Given the description of an element on the screen output the (x, y) to click on. 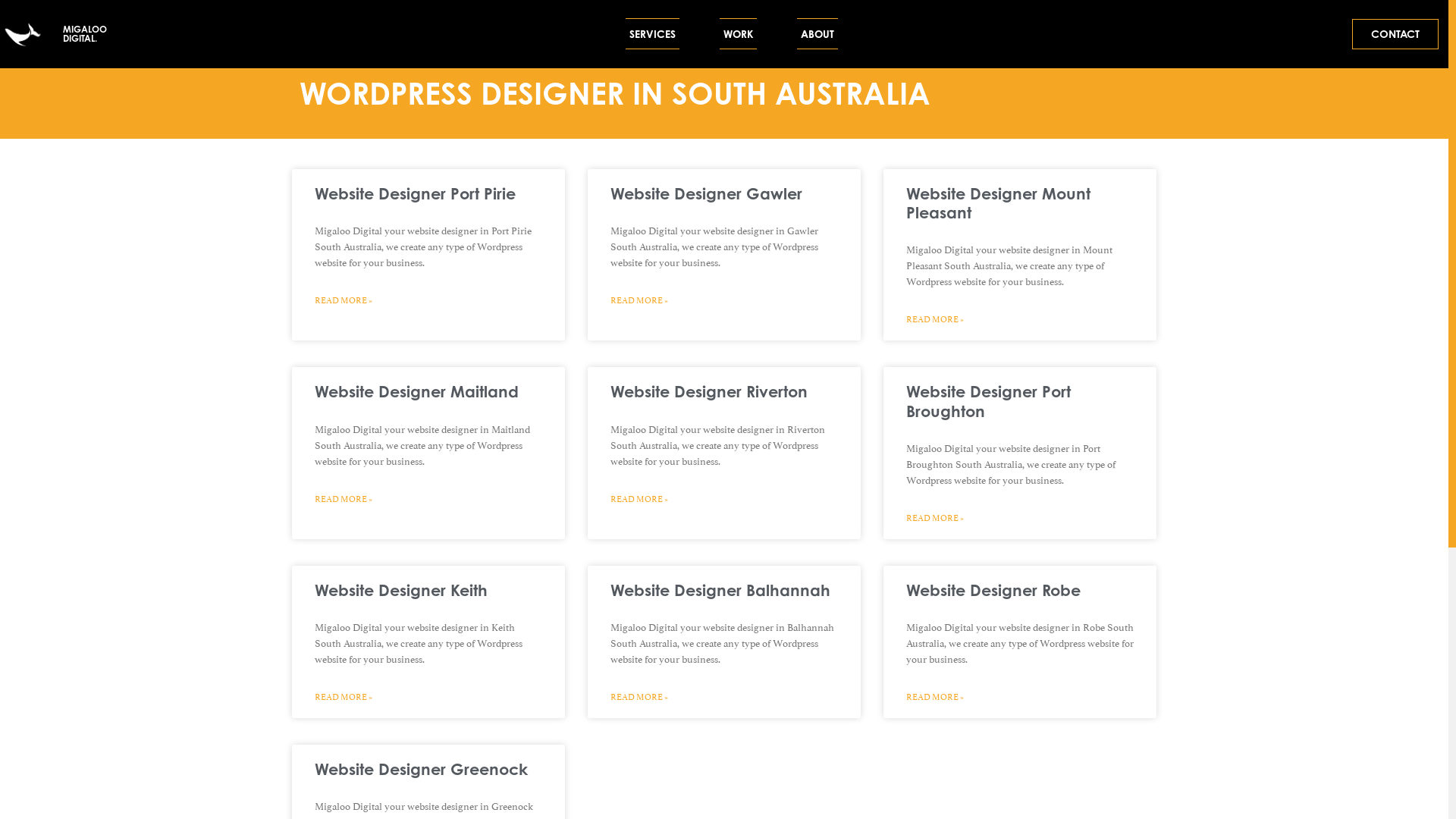
Website Designer Greenock Element type: text (420, 768)
MIGALOO
DIGITAL. Element type: text (84, 33)
Website Designer Balhannah Element type: text (720, 589)
WORK Element type: text (737, 33)
Website Designer Robe Element type: text (993, 589)
Website Designer Maitland Element type: text (416, 391)
Website Designer Riverton Element type: text (708, 391)
ABOUT Element type: text (817, 33)
Website Designer Port Pirie Element type: text (414, 193)
CONTACT Element type: text (1395, 33)
Website Designer Port Broughton Element type: text (988, 400)
SERVICES Element type: text (652, 33)
Website Designer Mount Pleasant Element type: text (998, 202)
Website Designer Keith Element type: text (400, 589)
Website Designer Gawler Element type: text (706, 193)
